Given the description of an element on the screen output the (x, y) to click on. 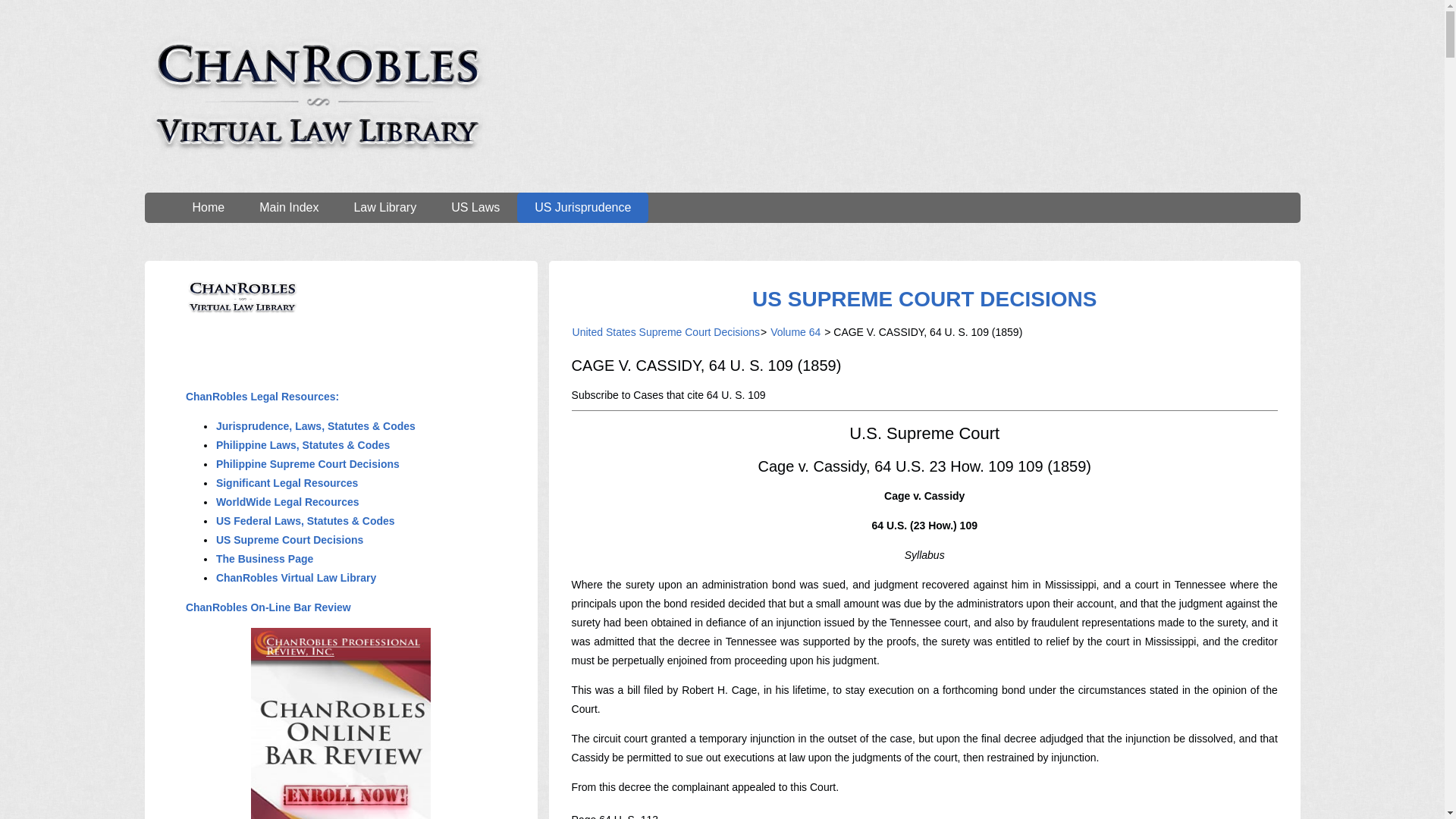
US Supreme Court Decisions (290, 539)
United States Supreme Court Decisions (666, 331)
Significant Legal Resources (287, 482)
Home (207, 207)
US Jurisprudence (581, 207)
US Laws (474, 207)
ChanRobles On-Line Bar Review (268, 607)
ChanRobles Legal Resources: (261, 396)
WorldWide Legal Recources (287, 501)
Main Index (288, 207)
Page 64 U. S. 113 (615, 816)
Philippine Supreme Court Decisions (307, 463)
Law Library (384, 207)
ChanRobles Virtual Law Library (296, 577)
The Business Page (264, 558)
